Given the description of an element on the screen output the (x, y) to click on. 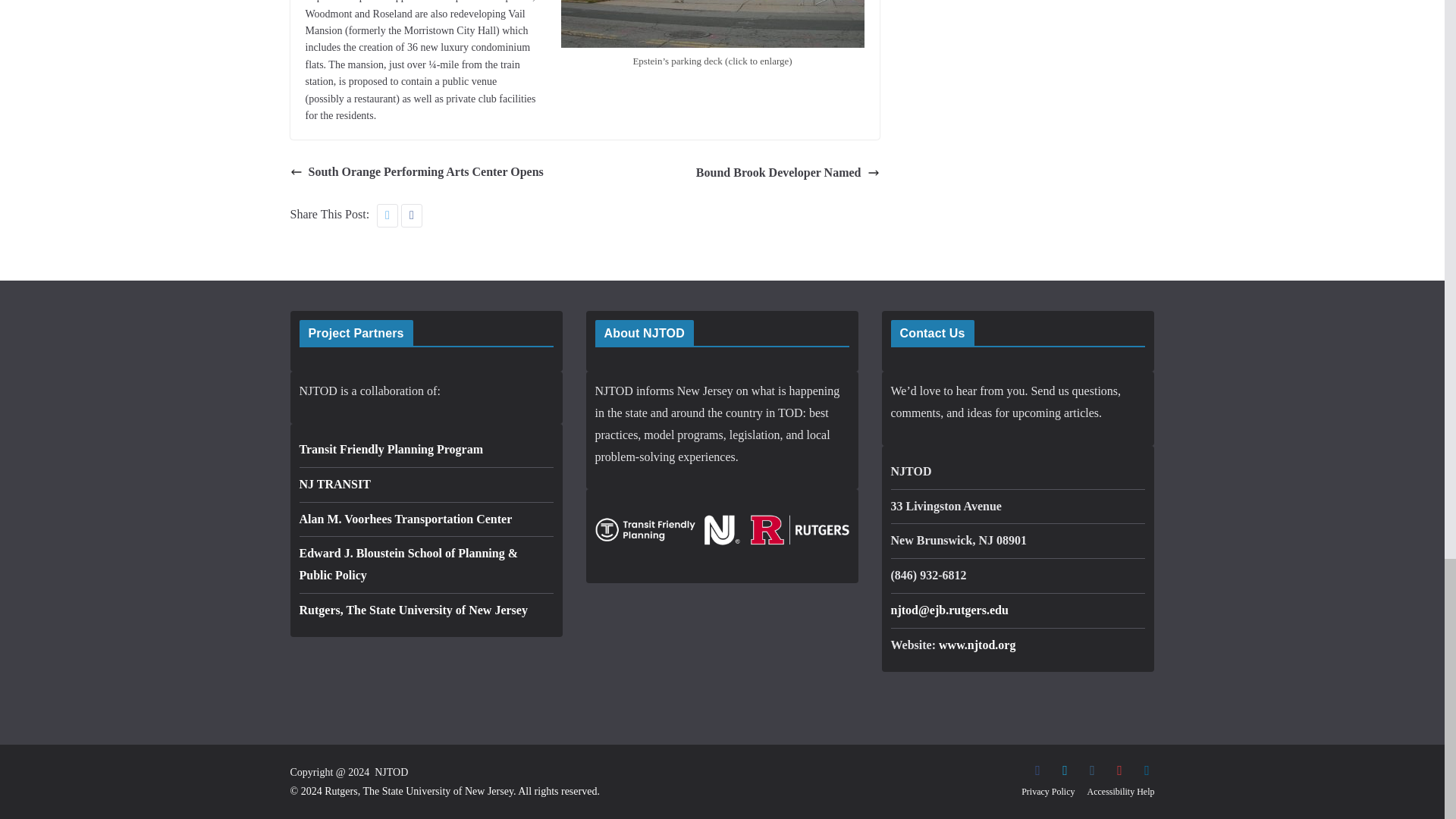
South Orange Performing Arts Center Opens (416, 171)
Bound Brook Developer Named (787, 172)
